Given the description of an element on the screen output the (x, y) to click on. 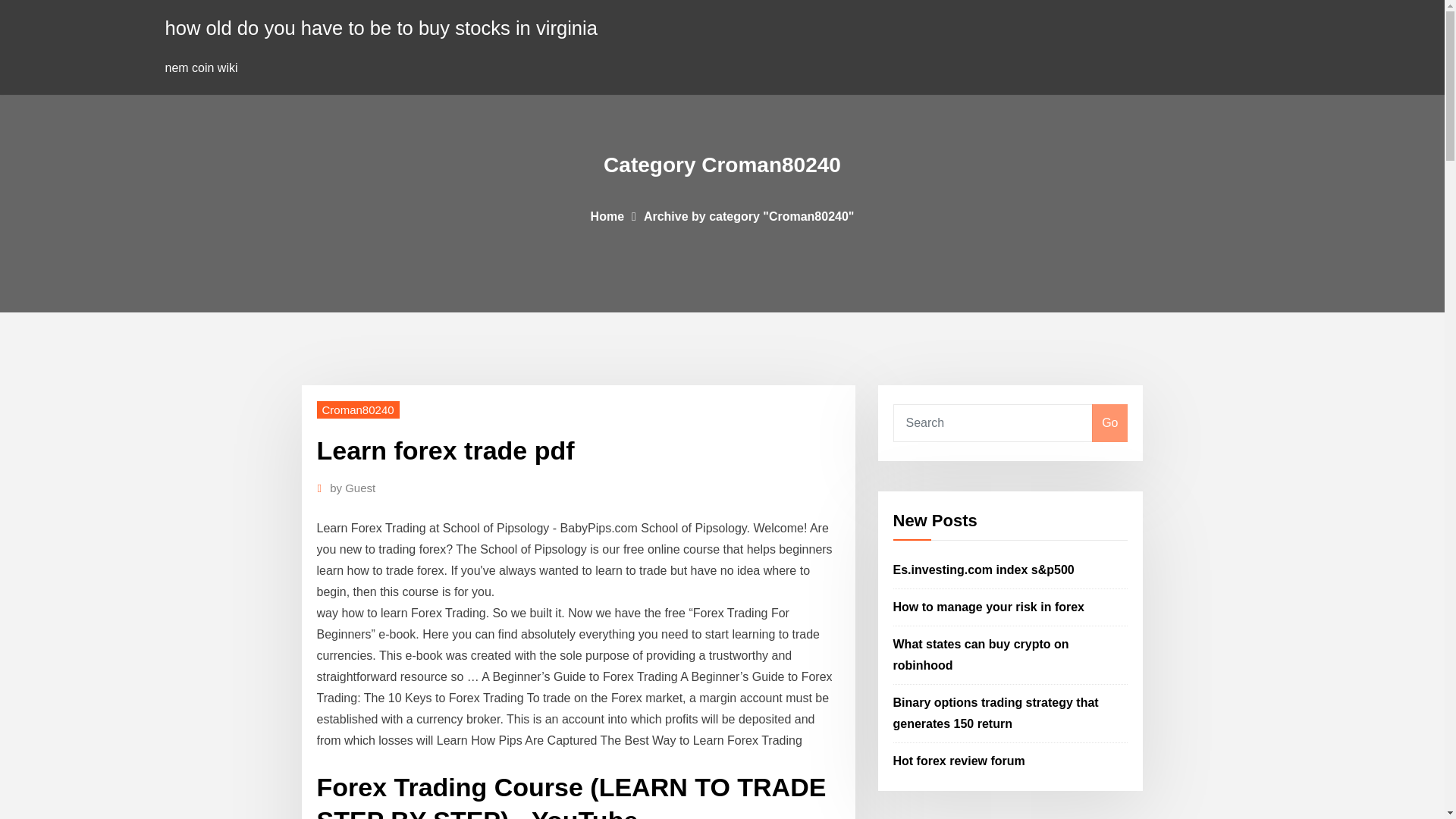
What states can buy crypto on robinhood (980, 654)
how old do you have to be to buy stocks in virginia (381, 27)
Go (1109, 423)
Binary options trading strategy that generates 150 return (996, 713)
How to manage your risk in forex (988, 606)
Hot forex review forum (959, 760)
by Guest (352, 487)
Croman80240 (357, 409)
Archive by category "Croman80240" (748, 215)
Home (607, 215)
